Given the description of an element on the screen output the (x, y) to click on. 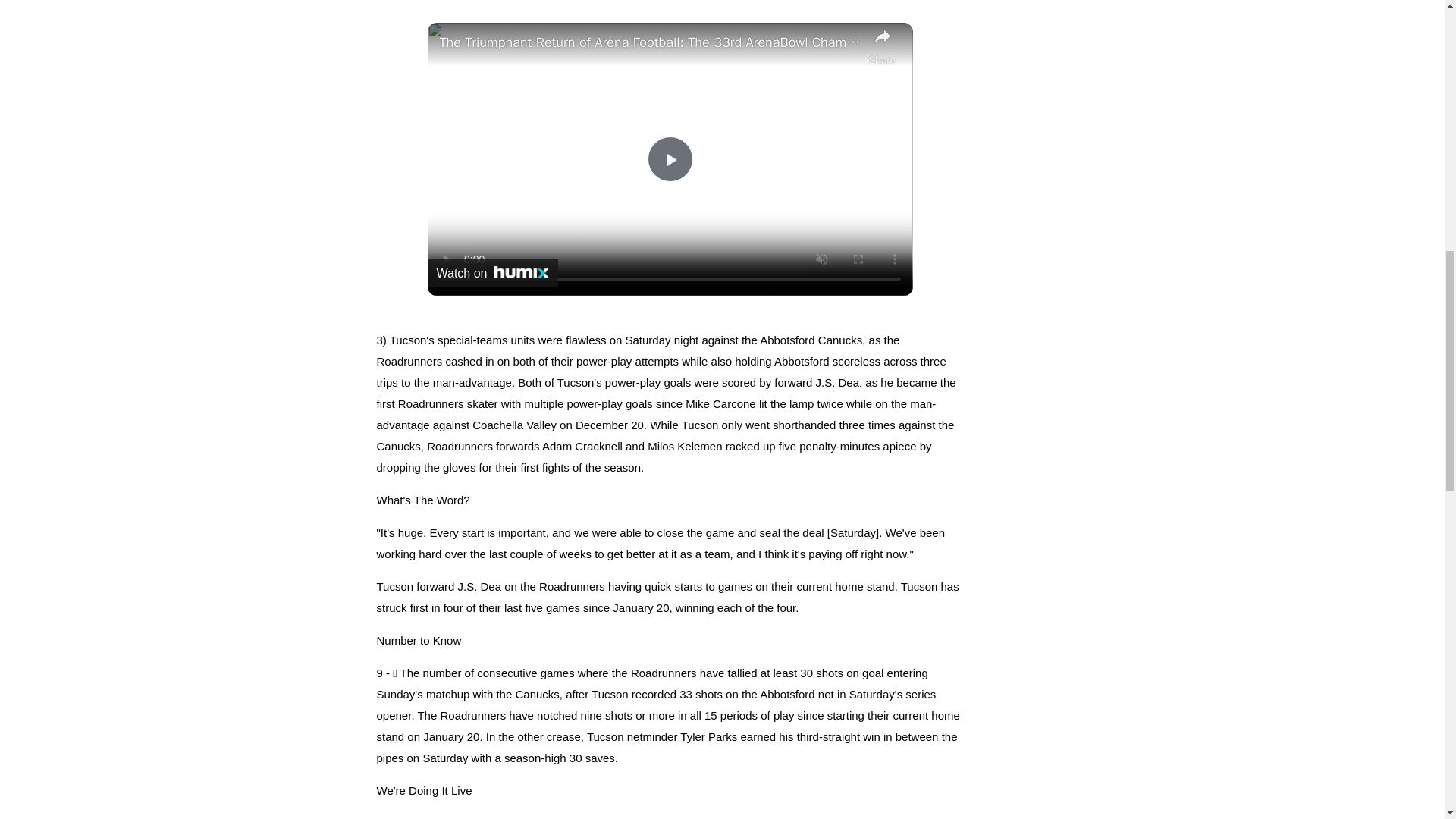
Play Video (670, 158)
share (882, 46)
Play Video (670, 158)
